Given the description of an element on the screen output the (x, y) to click on. 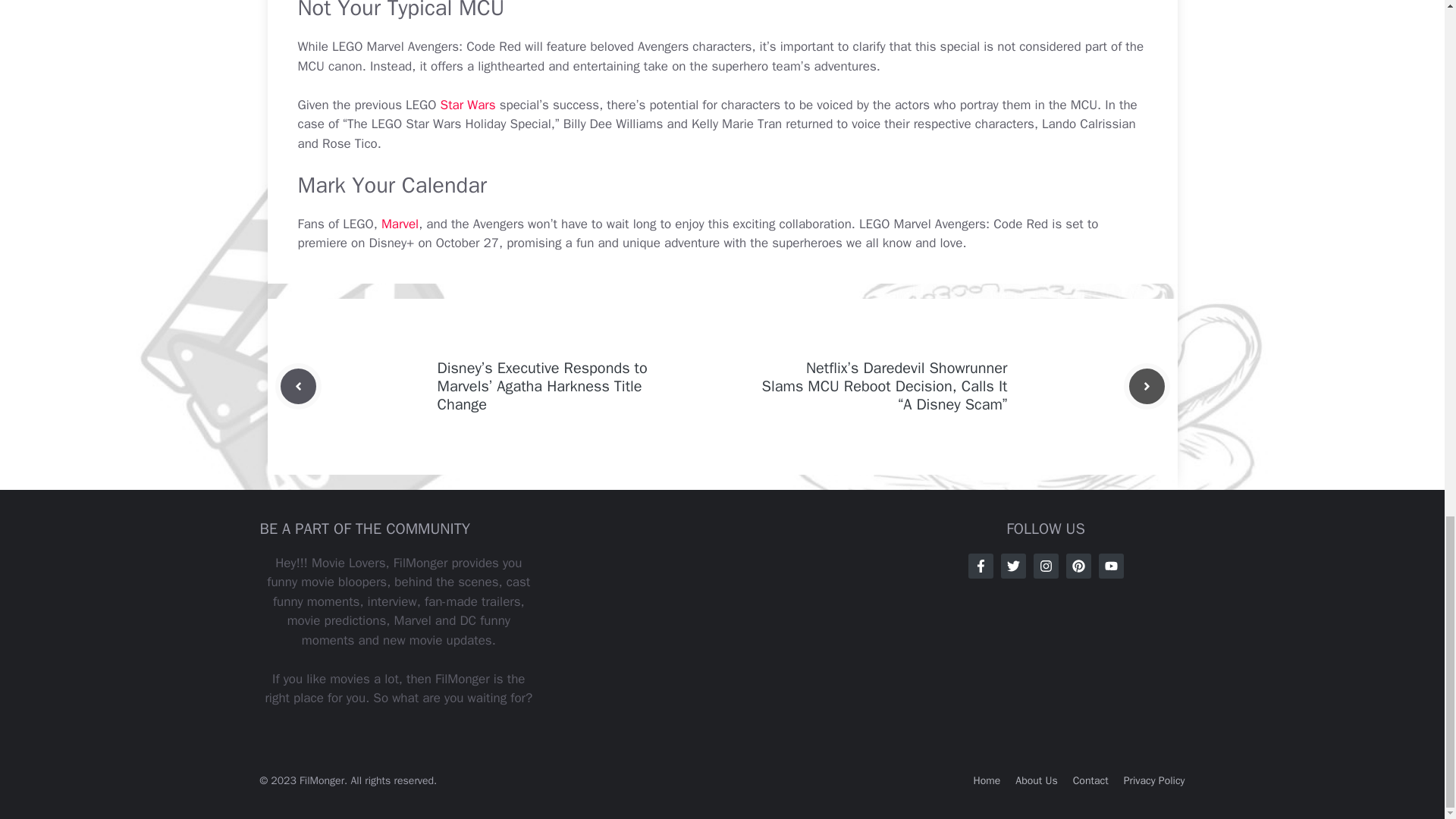
Star Wars (468, 105)
Marvel (400, 223)
Scroll back to top (1406, 119)
